Given the description of an element on the screen output the (x, y) to click on. 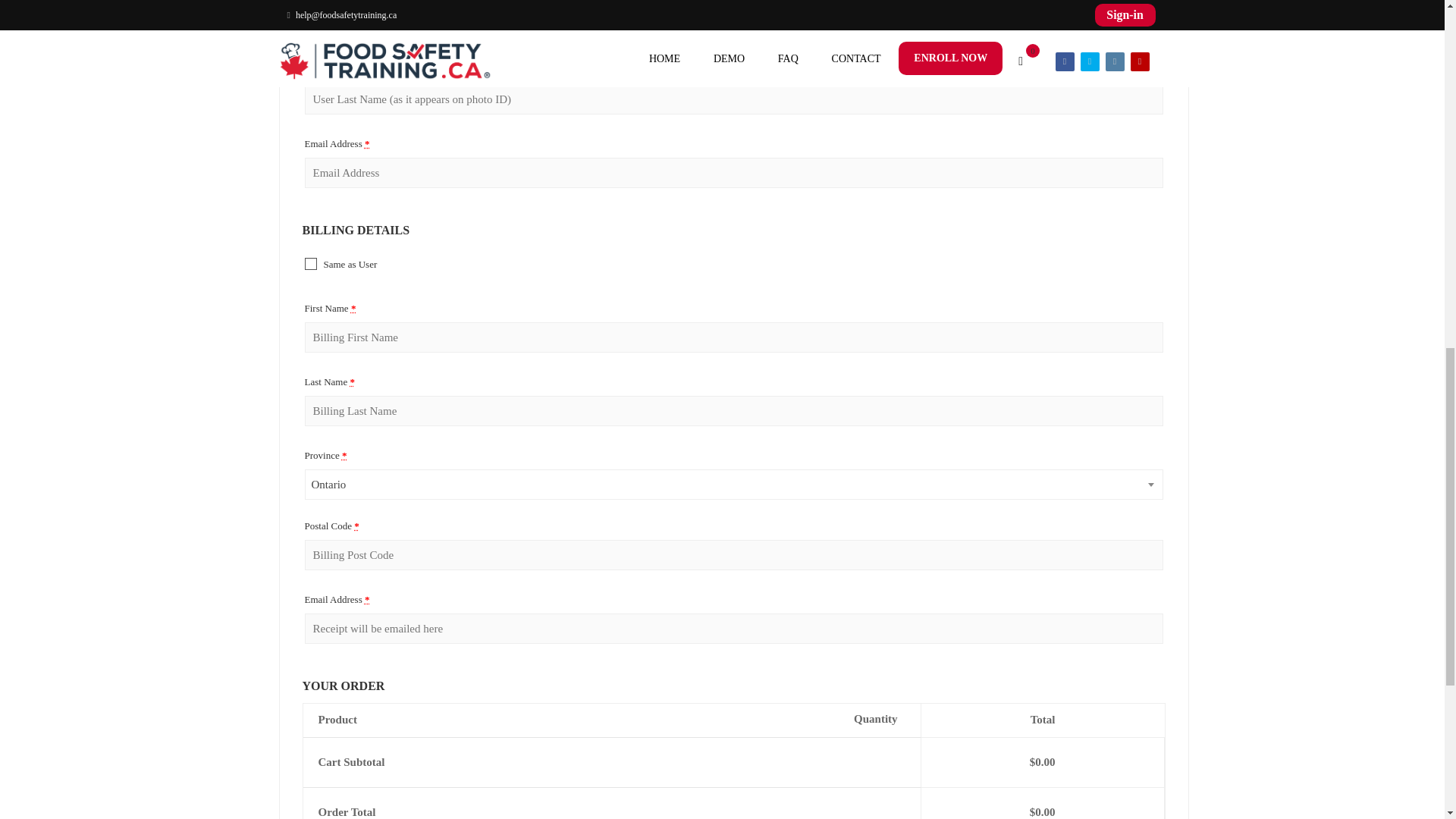
1 (310, 263)
